Given the description of an element on the screen output the (x, y) to click on. 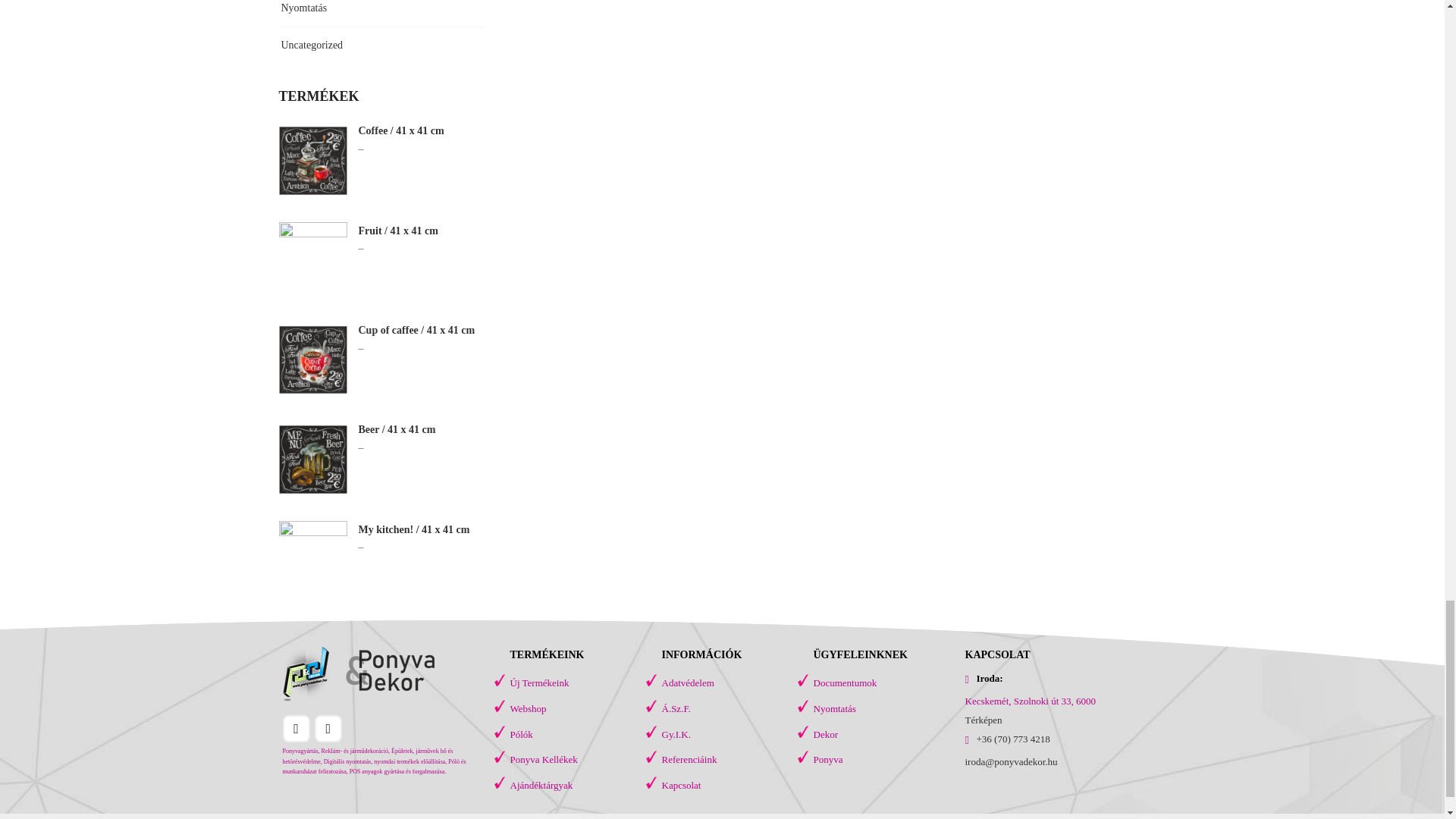
ponyva dekor logo w200 (357, 674)
